Given the description of an element on the screen output the (x, y) to click on. 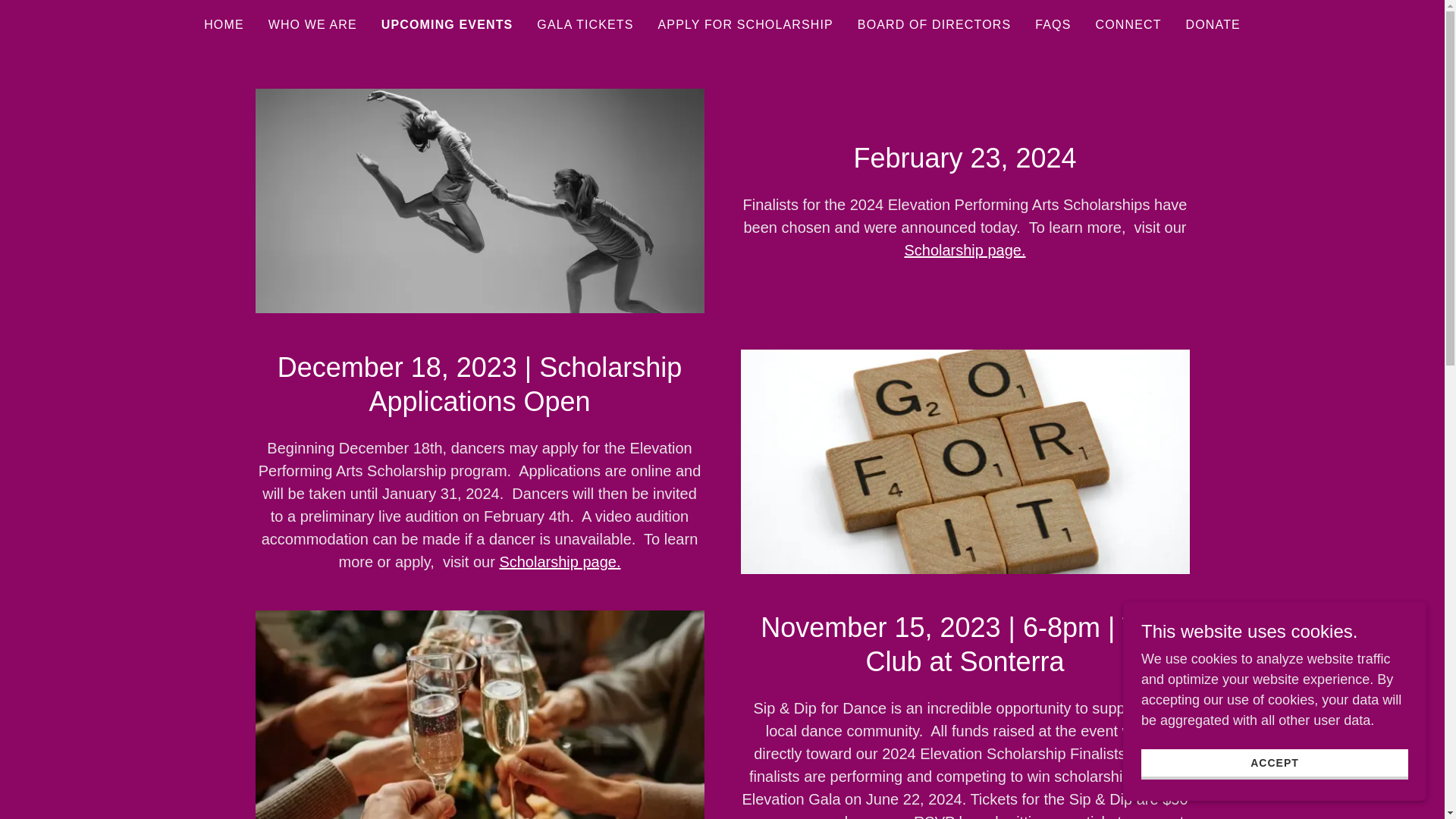
BOARD OF DIRECTORS (933, 24)
FAQS (1052, 24)
CONNECT (1128, 24)
GALA TICKETS (584, 24)
DONATE (1212, 24)
Scholarship page. (964, 248)
UPCOMING EVENTS (447, 24)
Scholarship page. (559, 561)
APPLY FOR SCHOLARSHIP (745, 24)
HOME (223, 24)
ACCEPT (1274, 764)
WHO WE ARE (312, 24)
